Given the description of an element on the screen output the (x, y) to click on. 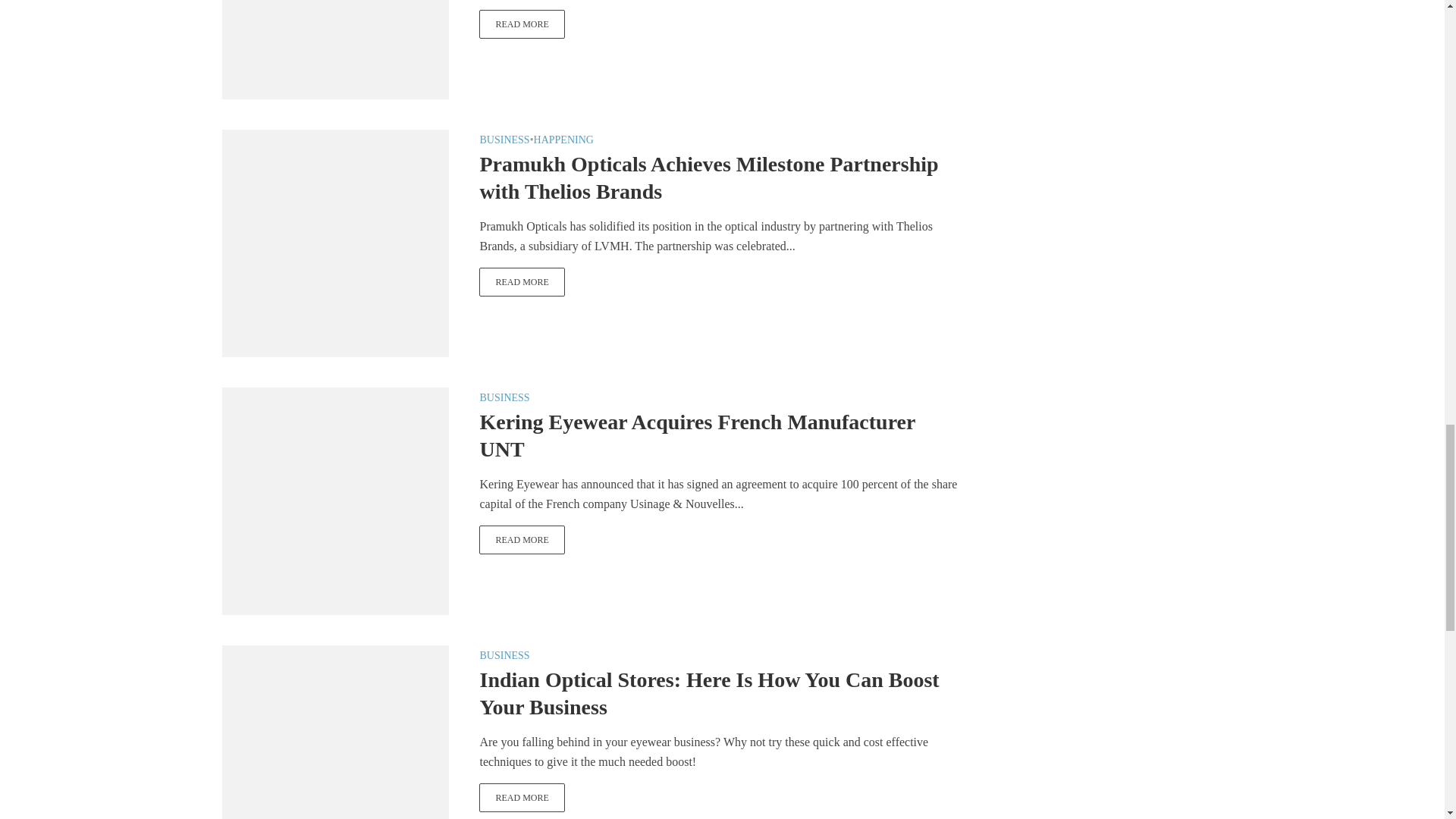
Kering Eyewear Acquires French Manufacturer UNT (521, 539)
Kering Eyewear Acquires French Manufacturer UNT (334, 499)
